Given the description of an element on the screen output the (x, y) to click on. 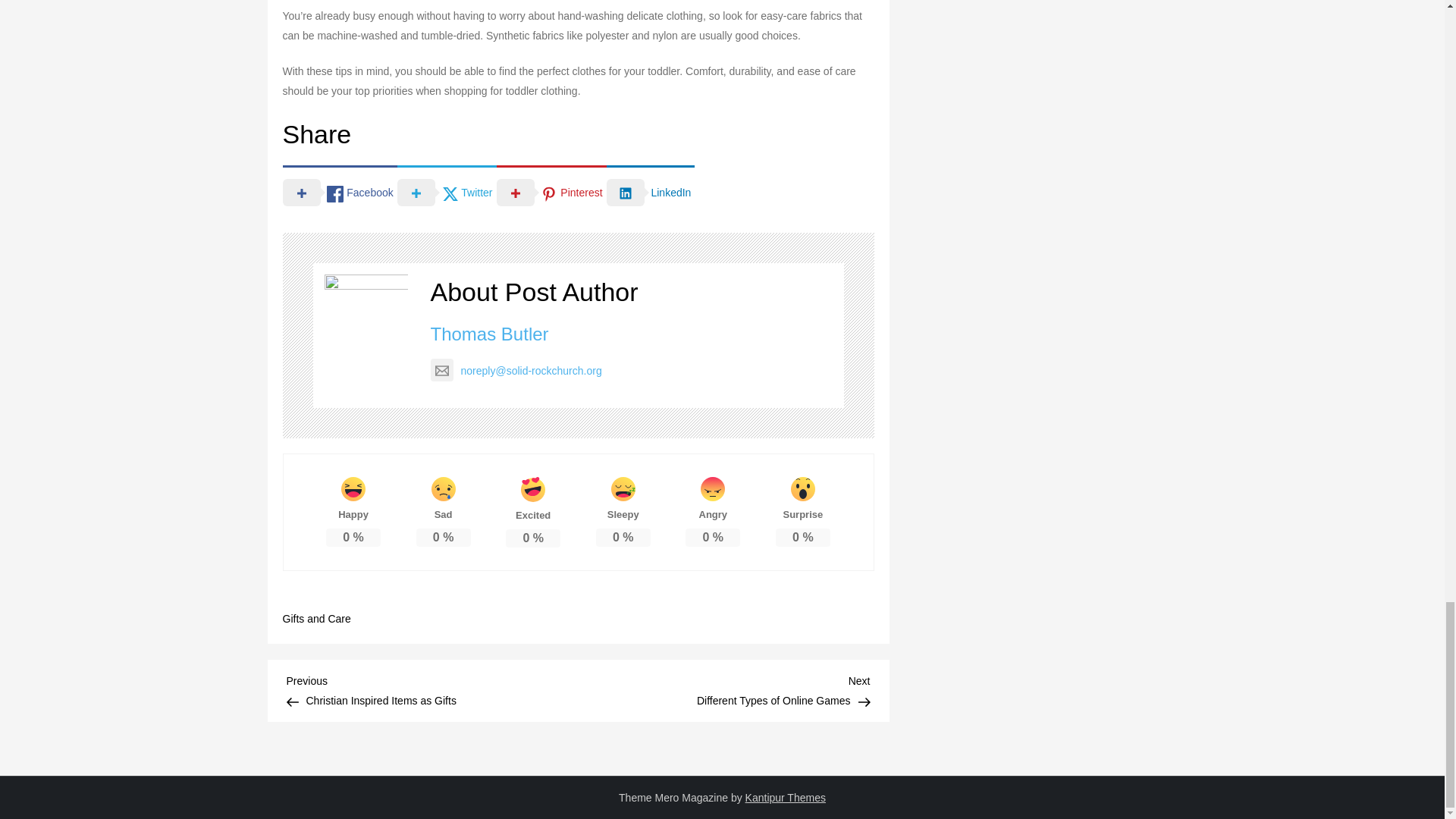
Pinterest (723, 688)
Facebook (551, 191)
Thomas Butler (432, 688)
Twitter (339, 191)
Gifts and Care (489, 333)
LinkedIn (446, 191)
